Given the description of an element on the screen output the (x, y) to click on. 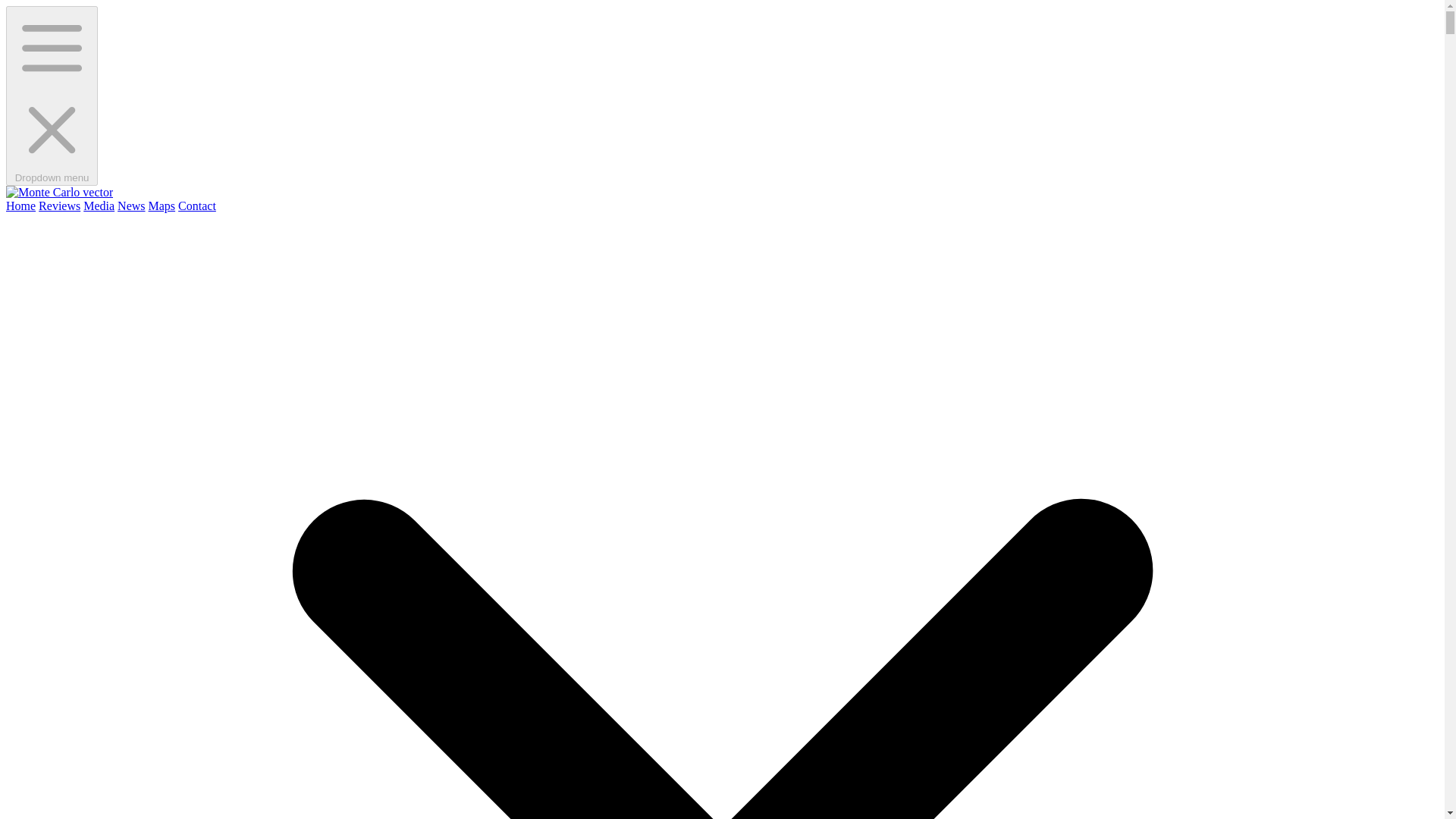
Home (19, 205)
Contact (196, 205)
Media (98, 205)
Reviews (59, 205)
Maps (162, 205)
News (130, 205)
